Given the description of an element on the screen output the (x, y) to click on. 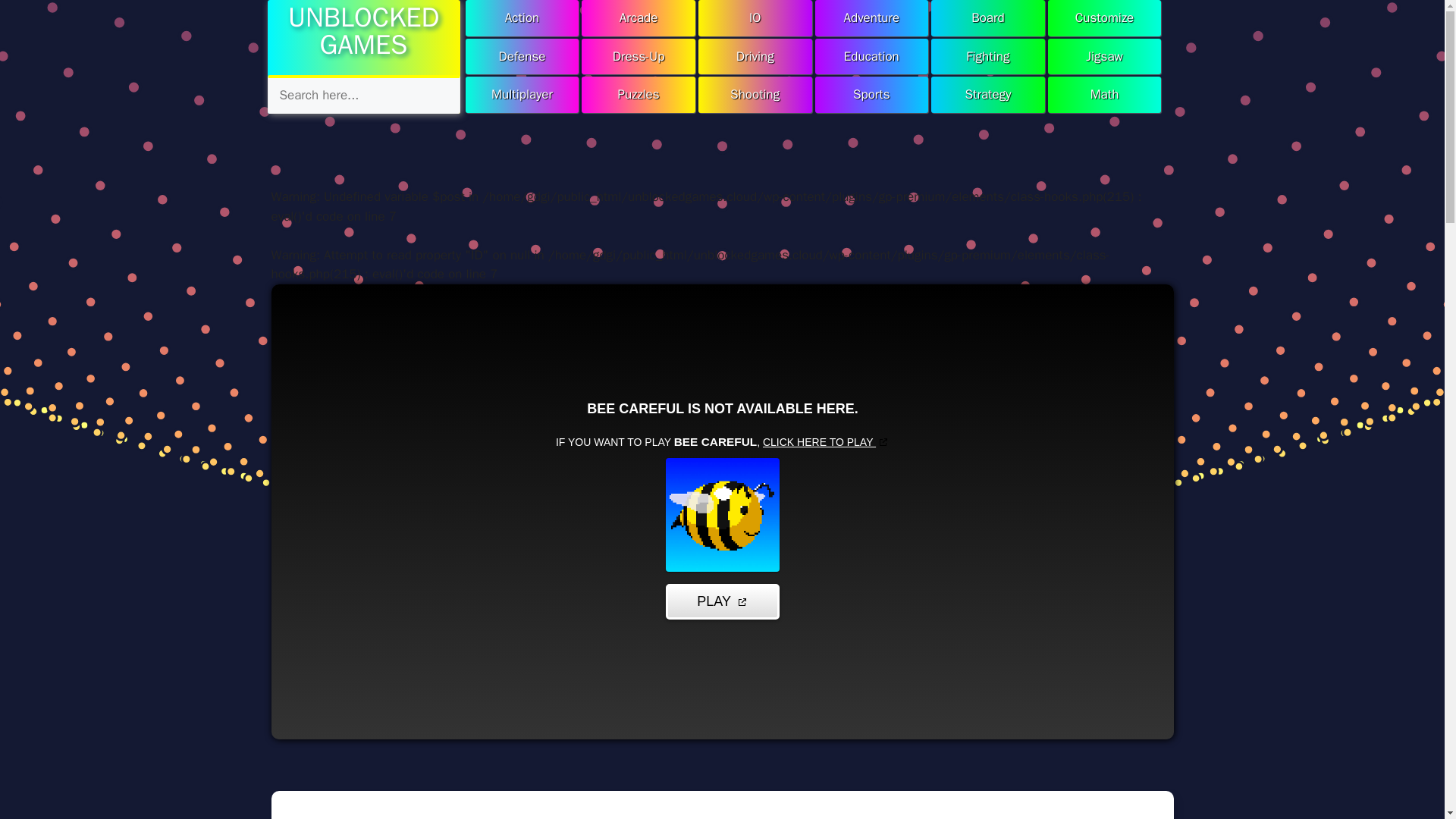
Arcade (637, 18)
Defense (522, 55)
Dress-Up (637, 55)
Customize (1104, 18)
Education (870, 55)
Shooting (755, 94)
Board (988, 18)
Strategy (988, 94)
Adventure (870, 18)
Sports (870, 94)
Puzzles (637, 94)
Driving (755, 55)
UNBLOCKED GAMES (363, 31)
Math (1104, 94)
Jigsaw (1104, 55)
